Given the description of an element on the screen output the (x, y) to click on. 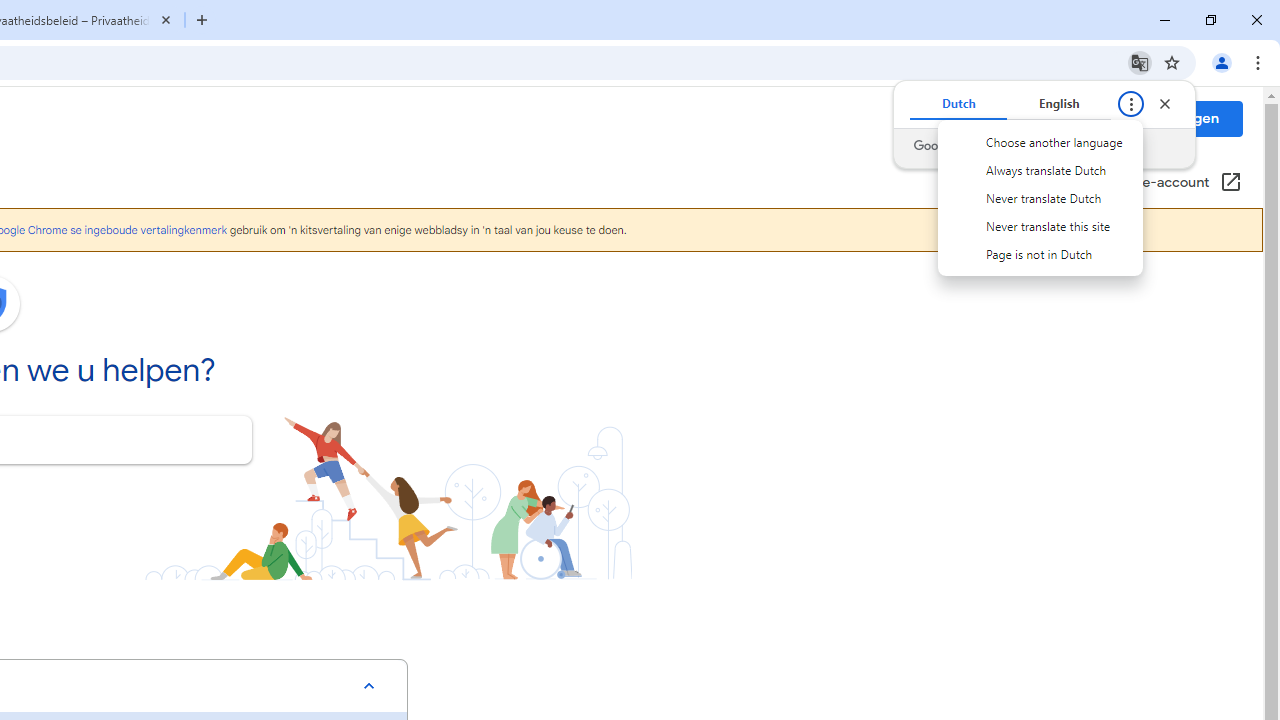
Never translate Dutch (1040, 197)
Page is not in Dutch (1040, 253)
Always translate Dutch (1040, 170)
Translate options (1130, 103)
Dutch (958, 103)
Choose another language (1040, 142)
Never translate this site (1040, 225)
